Given the description of an element on the screen output the (x, y) to click on. 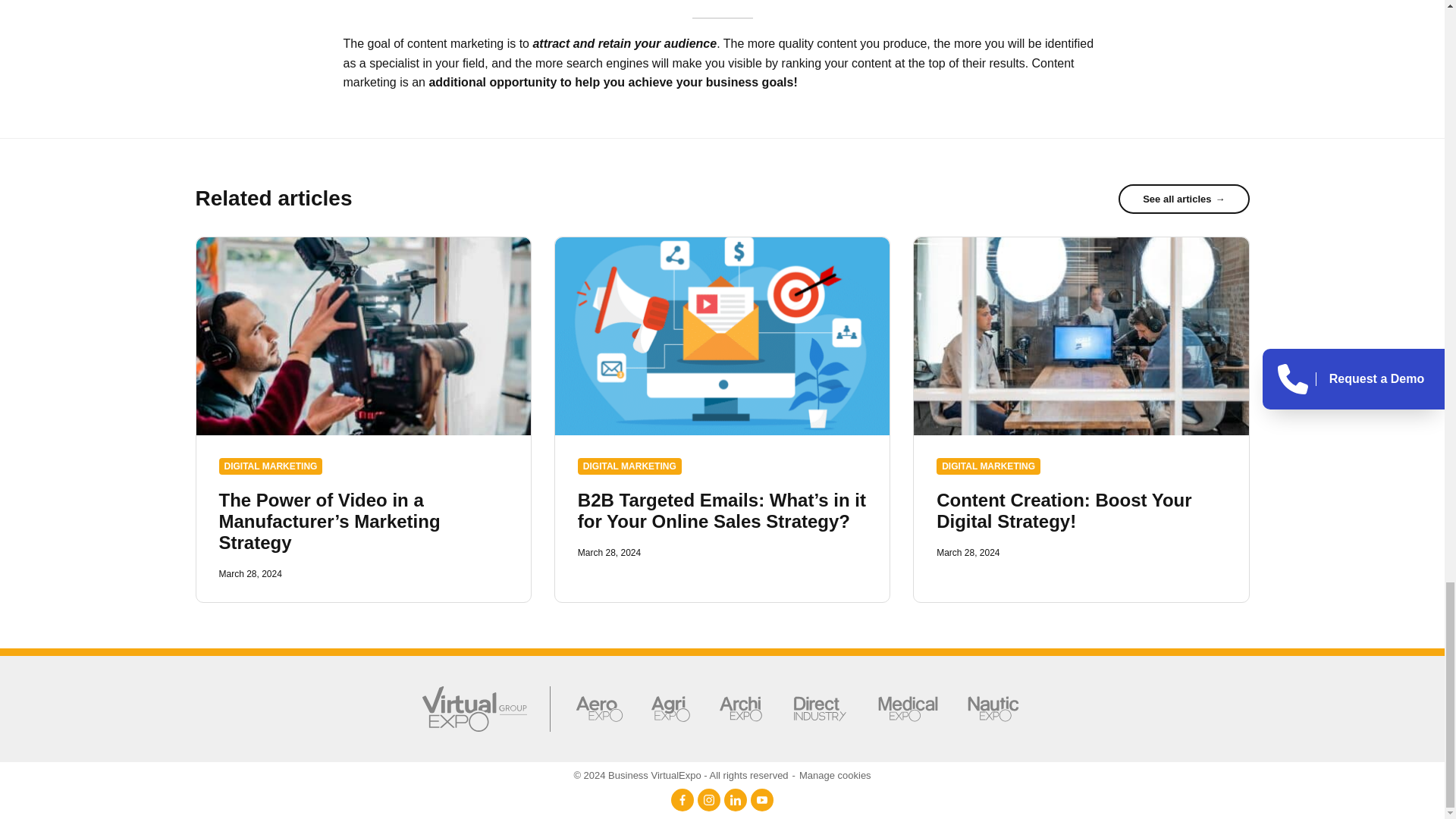
See all articles (1183, 198)
